Given the description of an element on the screen output the (x, y) to click on. 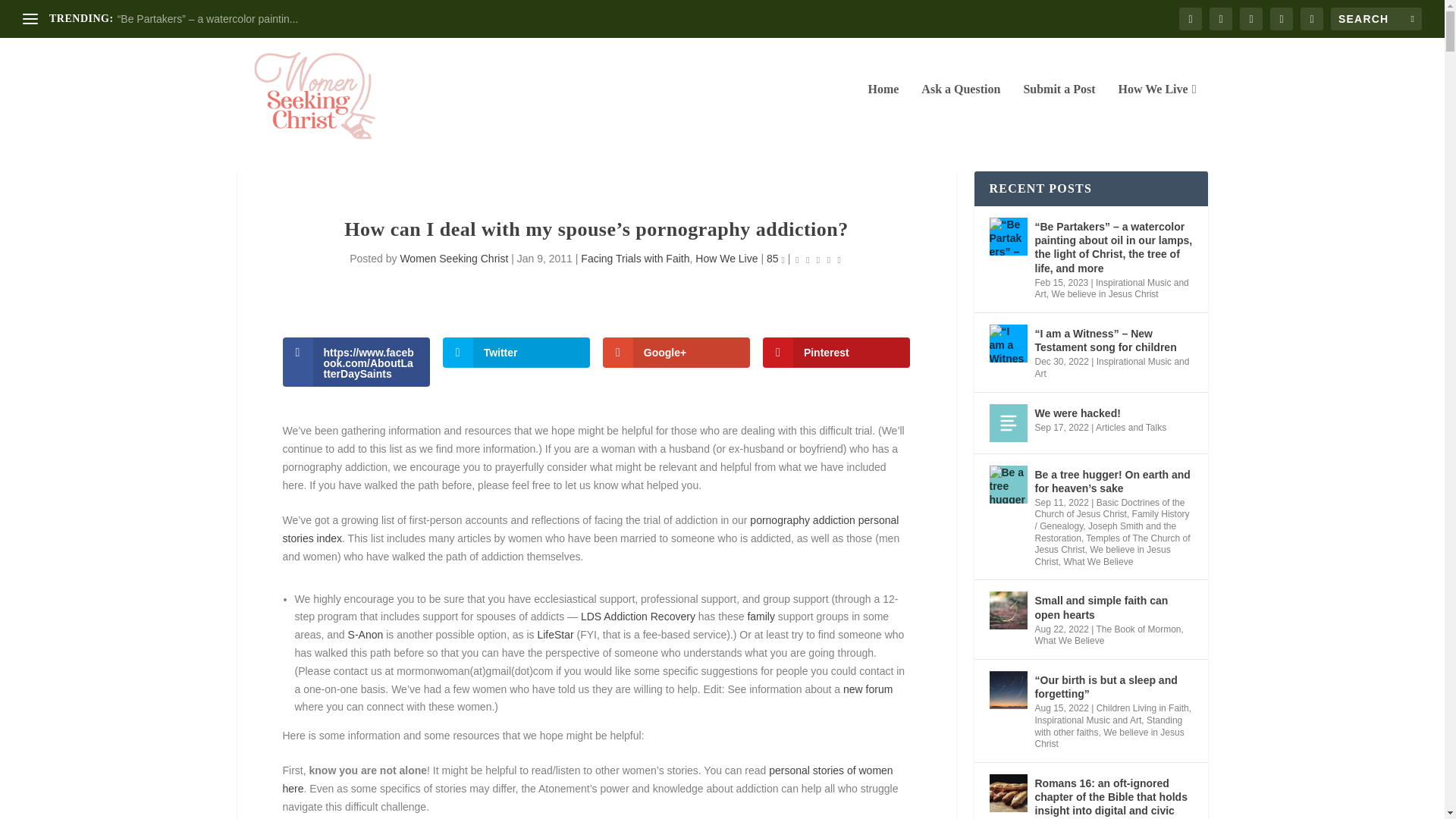
Rating: 4.50 (818, 259)
forum for wives of LDS pornography sex addicts  (867, 689)
Search for: (1376, 18)
pornography addiction personal stories index (590, 529)
LDS Addiction Recovery services (637, 616)
Posts by Women Seeking Christ (453, 258)
